Given the description of an element on the screen output the (x, y) to click on. 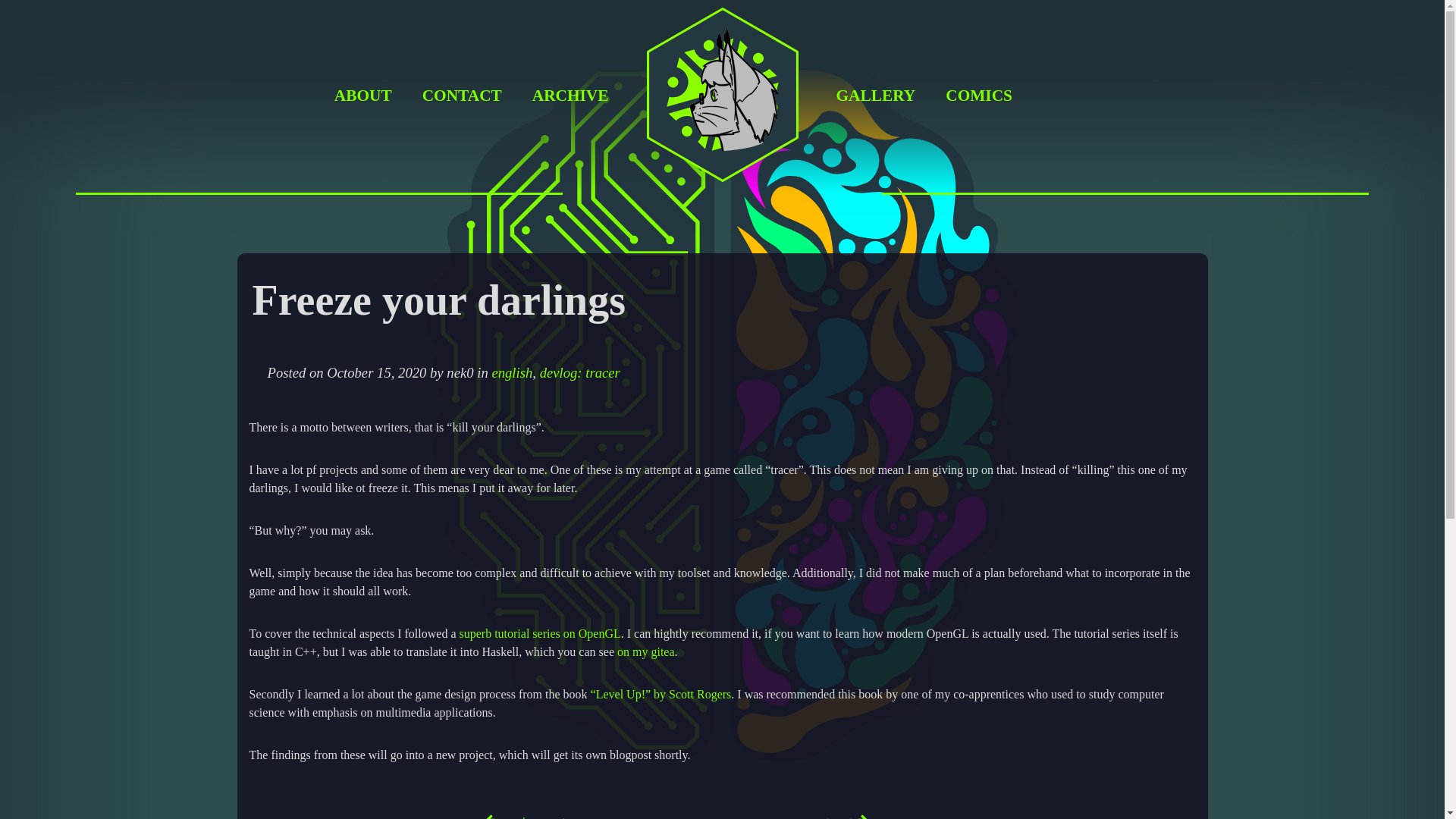
Logo (722, 185)
english (512, 372)
on my gitea (646, 651)
GALLERY (875, 95)
superb tutorial series on OpenGL (539, 633)
ABOUT (362, 95)
next post (719, 816)
devlog: tracer (580, 372)
CONTACT (462, 95)
previous post (400, 816)
